Given the description of an element on the screen output the (x, y) to click on. 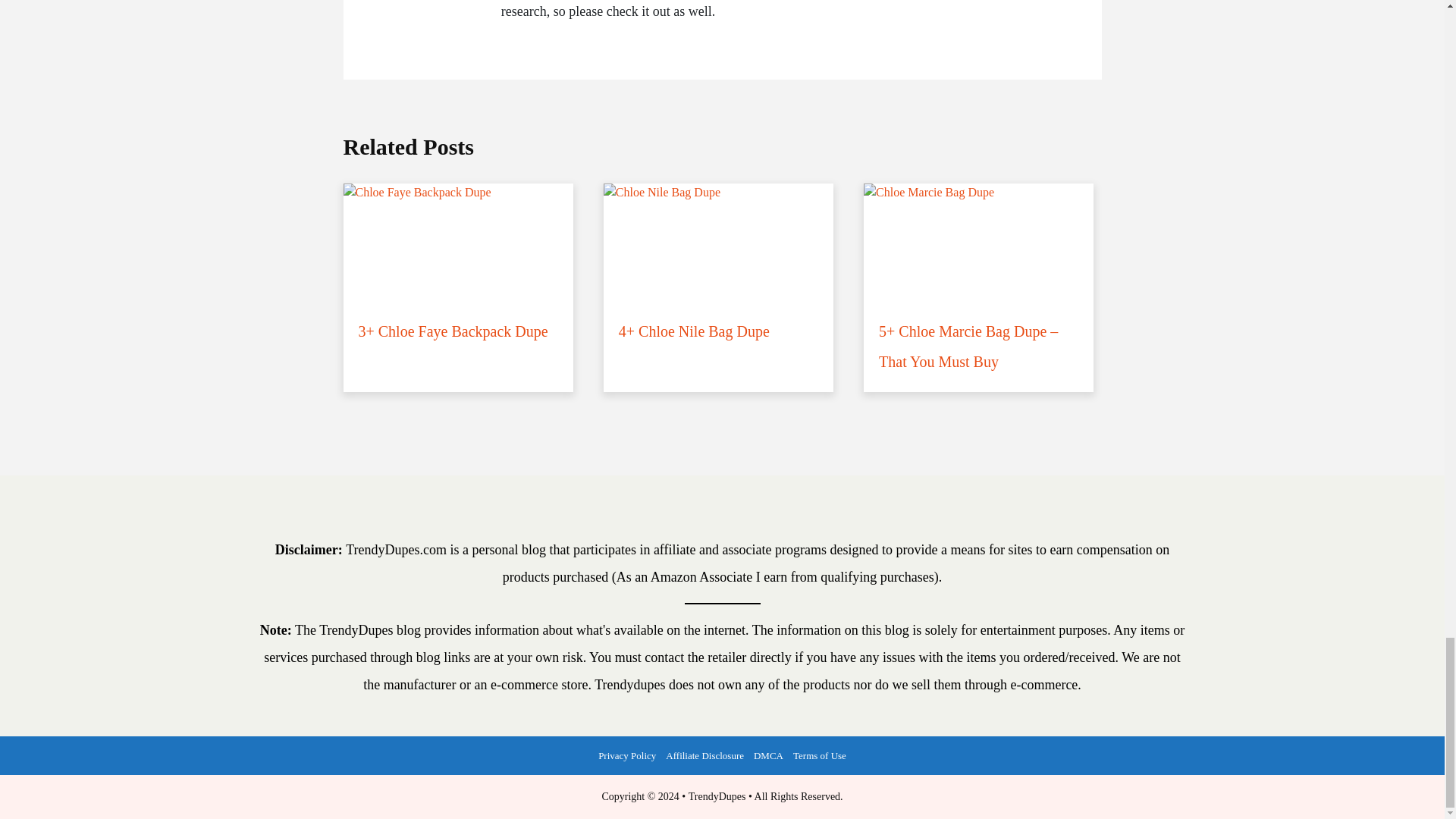
DMCA (767, 754)
Terms of Use (820, 754)
TrendyDupes (716, 796)
Privacy Policy (627, 754)
Affiliate Disclosure (705, 754)
